Given the description of an element on the screen output the (x, y) to click on. 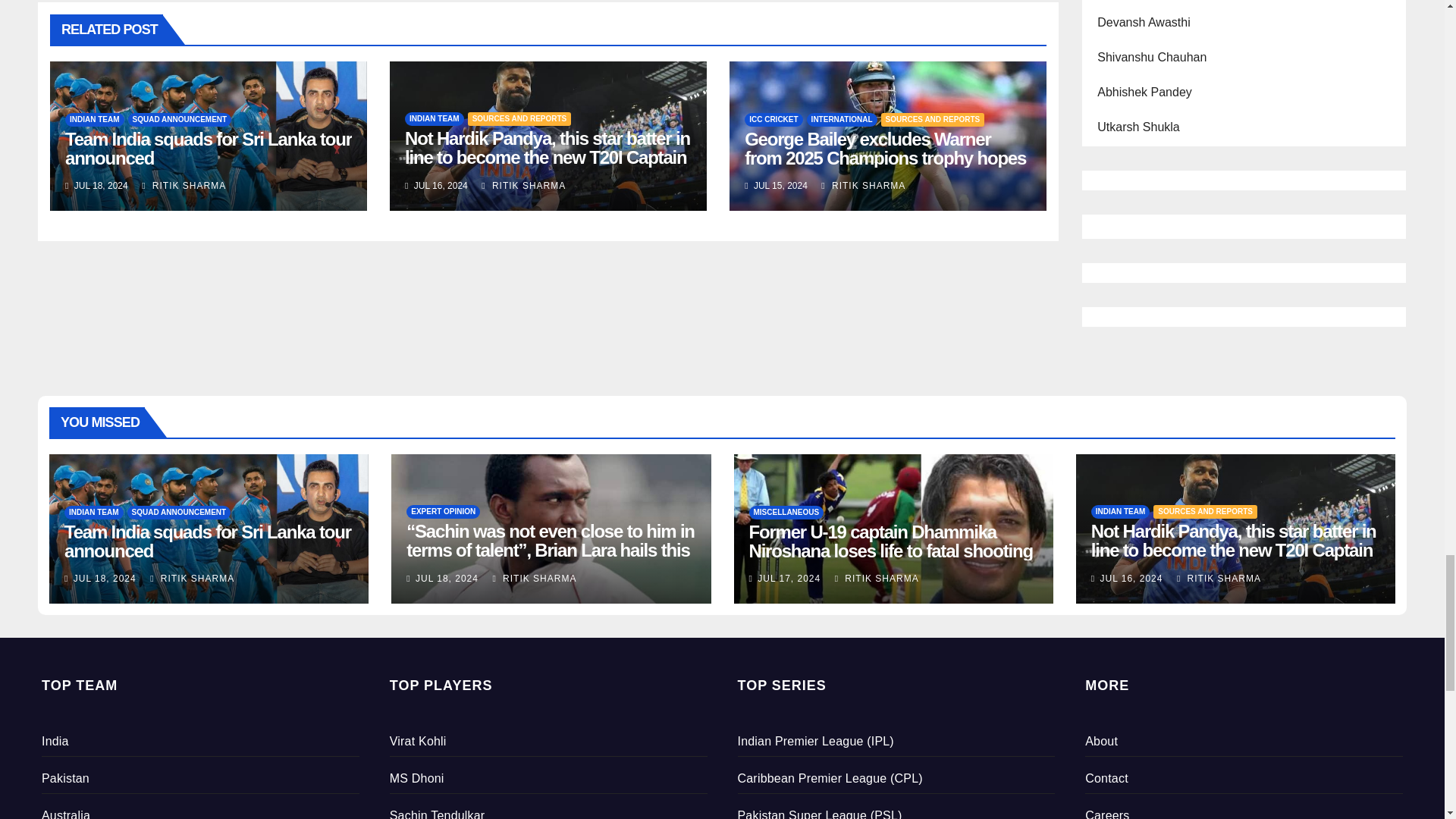
Permalink to: Team India squads for Sri Lanka tour announced (208, 148)
